Given the description of an element on the screen output the (x, y) to click on. 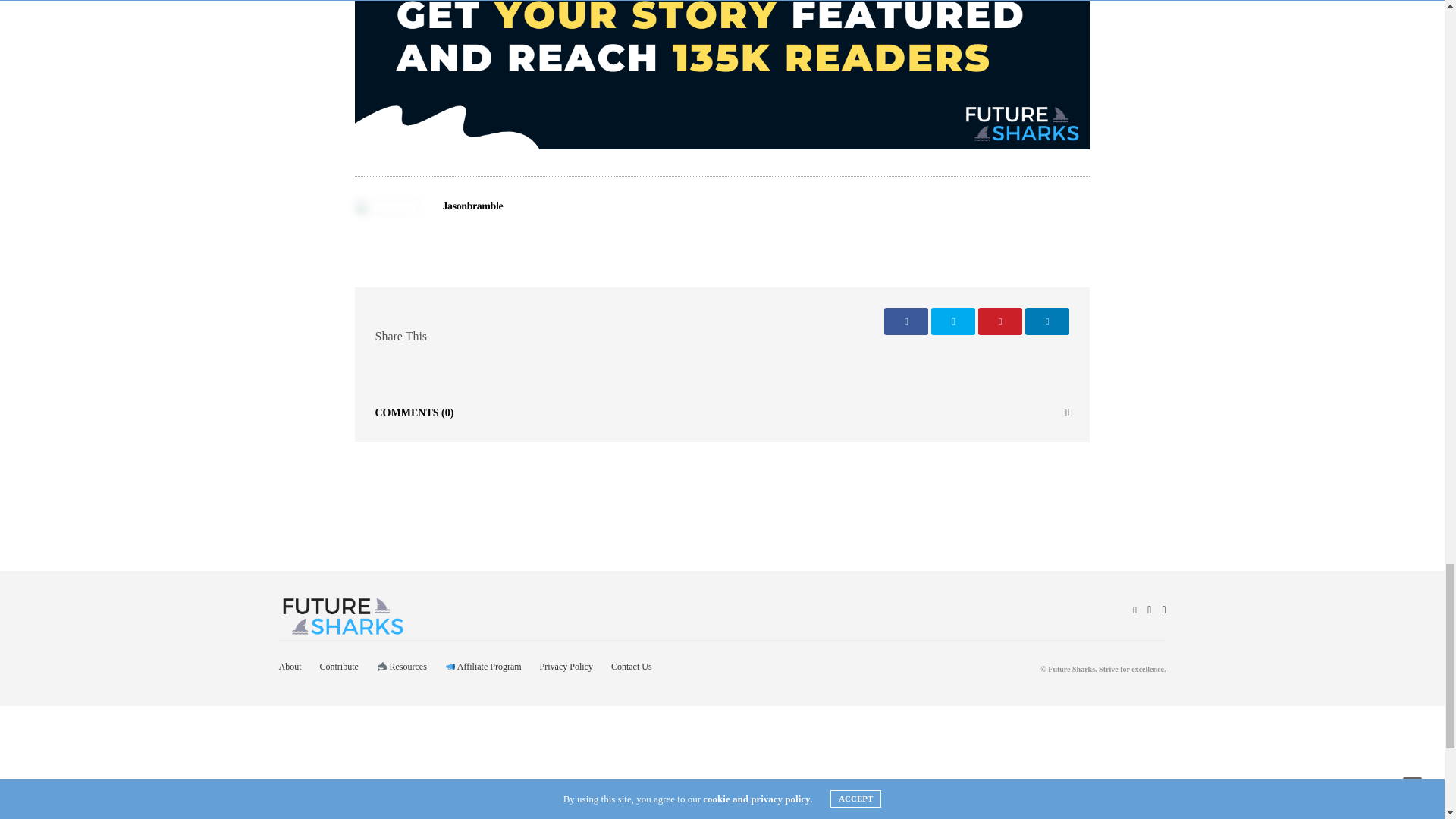
Affiliate Program (483, 665)
Jasonbramble (472, 206)
